Given the description of an element on the screen output the (x, y) to click on. 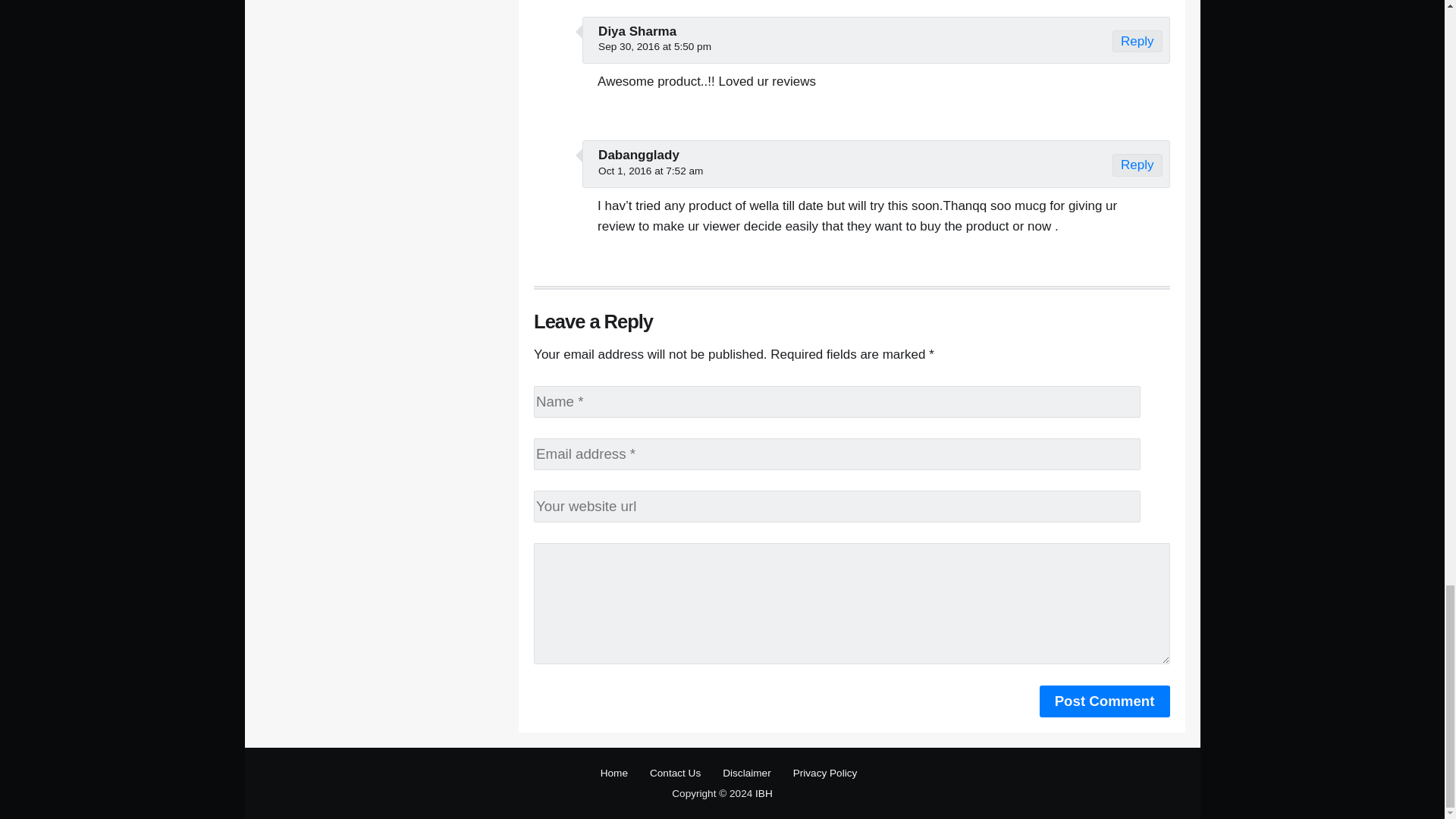
Post Comment (1104, 701)
Sep 30, 2016 at 5:50 pm (654, 46)
Reply (1136, 41)
Reply (1136, 164)
Oct 1, 2016 at 7:52 am (650, 170)
Post Comment (1104, 701)
